Given the description of an element on the screen output the (x, y) to click on. 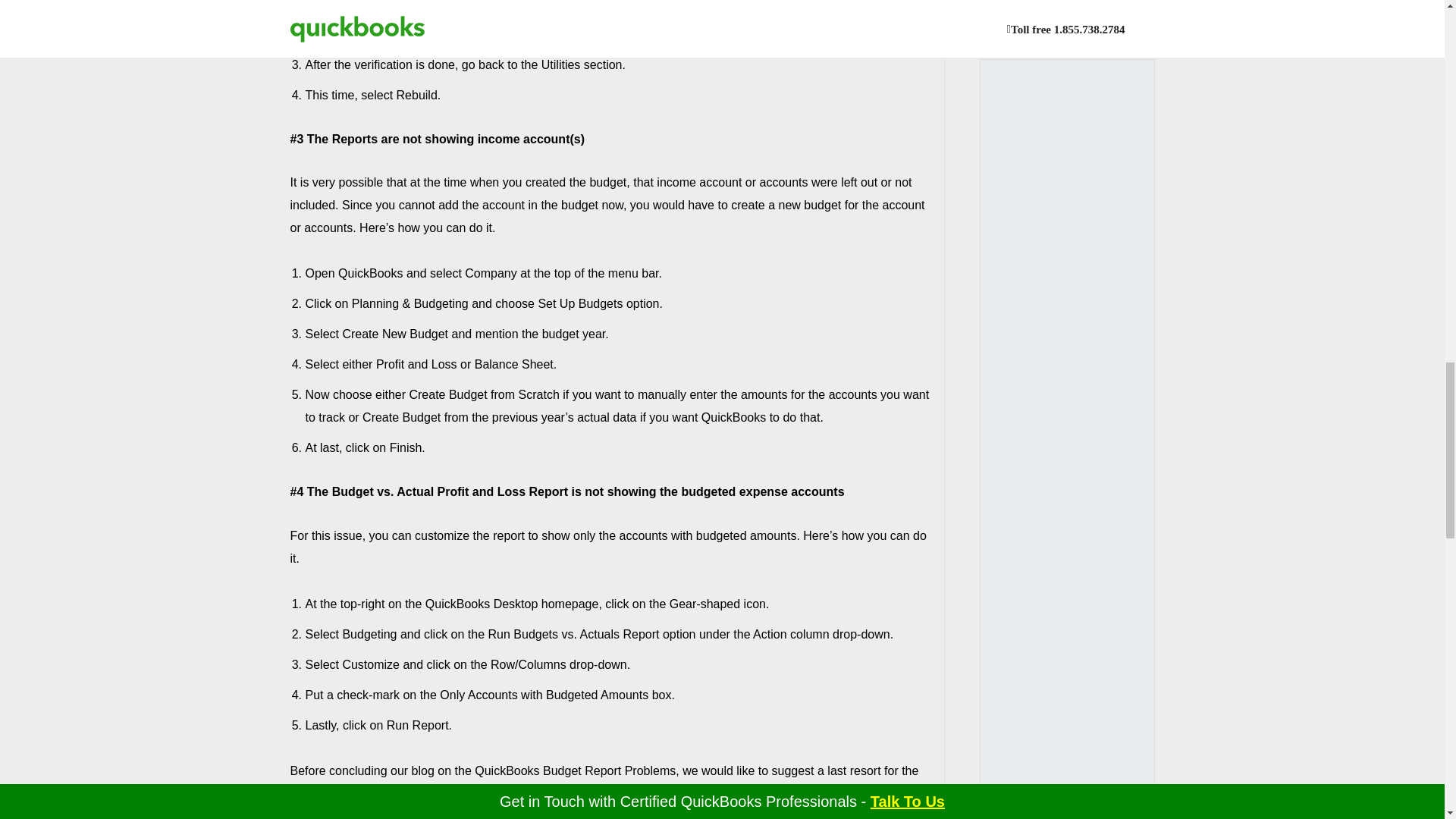
1.855.738.2784 (810, 793)
